Given the description of an element on the screen output the (x, y) to click on. 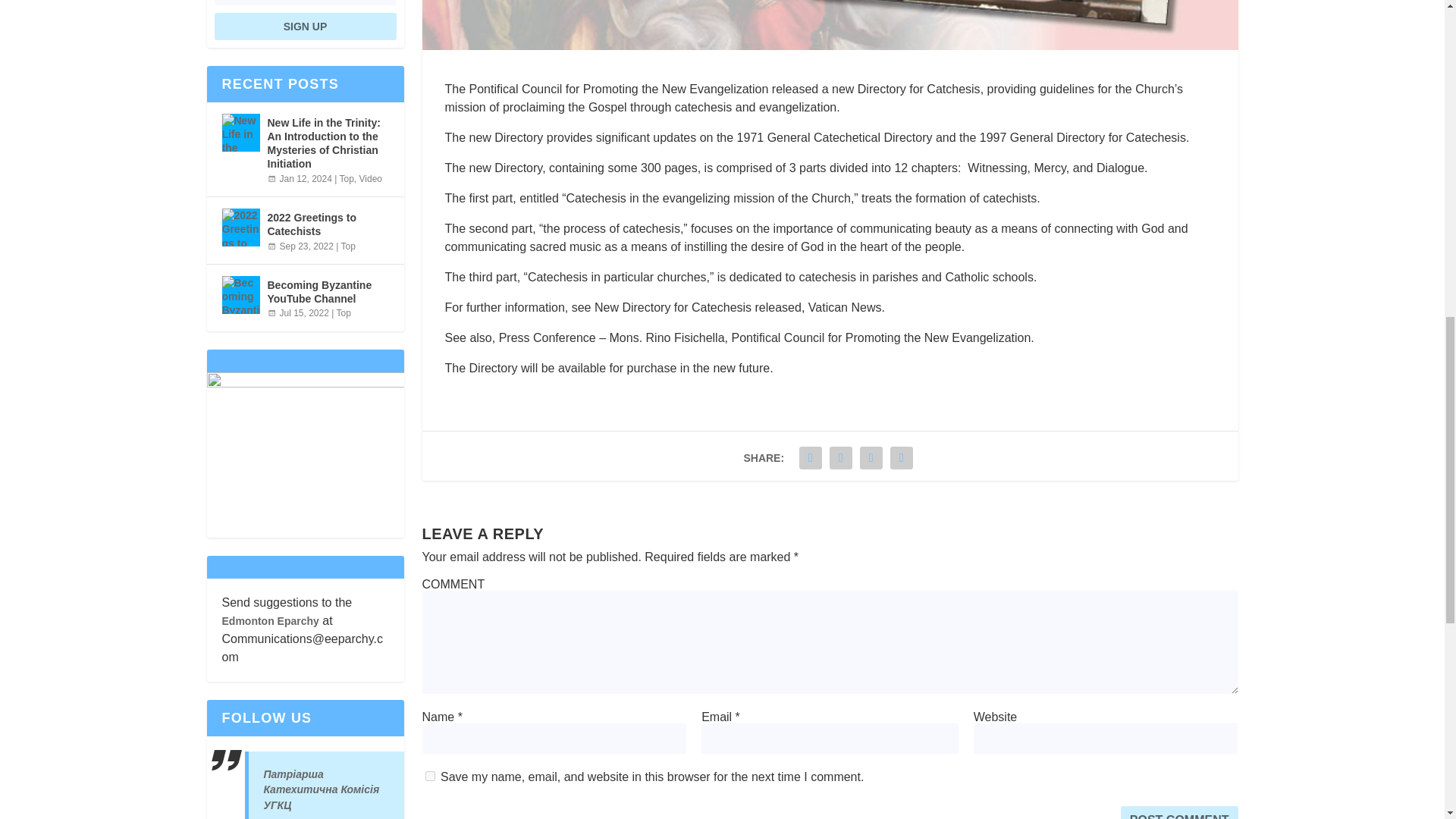
Sign up (305, 26)
yes (429, 776)
Share "New Catechetical Directory" via Twitter (840, 458)
Becoming Byzantine YouTube Channel (240, 294)
Share "New Catechetical Directory" via LinkedIn (871, 458)
Share "New Catechetical Directory" via Email (901, 458)
Post Comment (1180, 812)
Share "New Catechetical Directory" via Facebook (809, 458)
2022 Greetings to Catechists (240, 227)
